Given the description of an element on the screen output the (x, y) to click on. 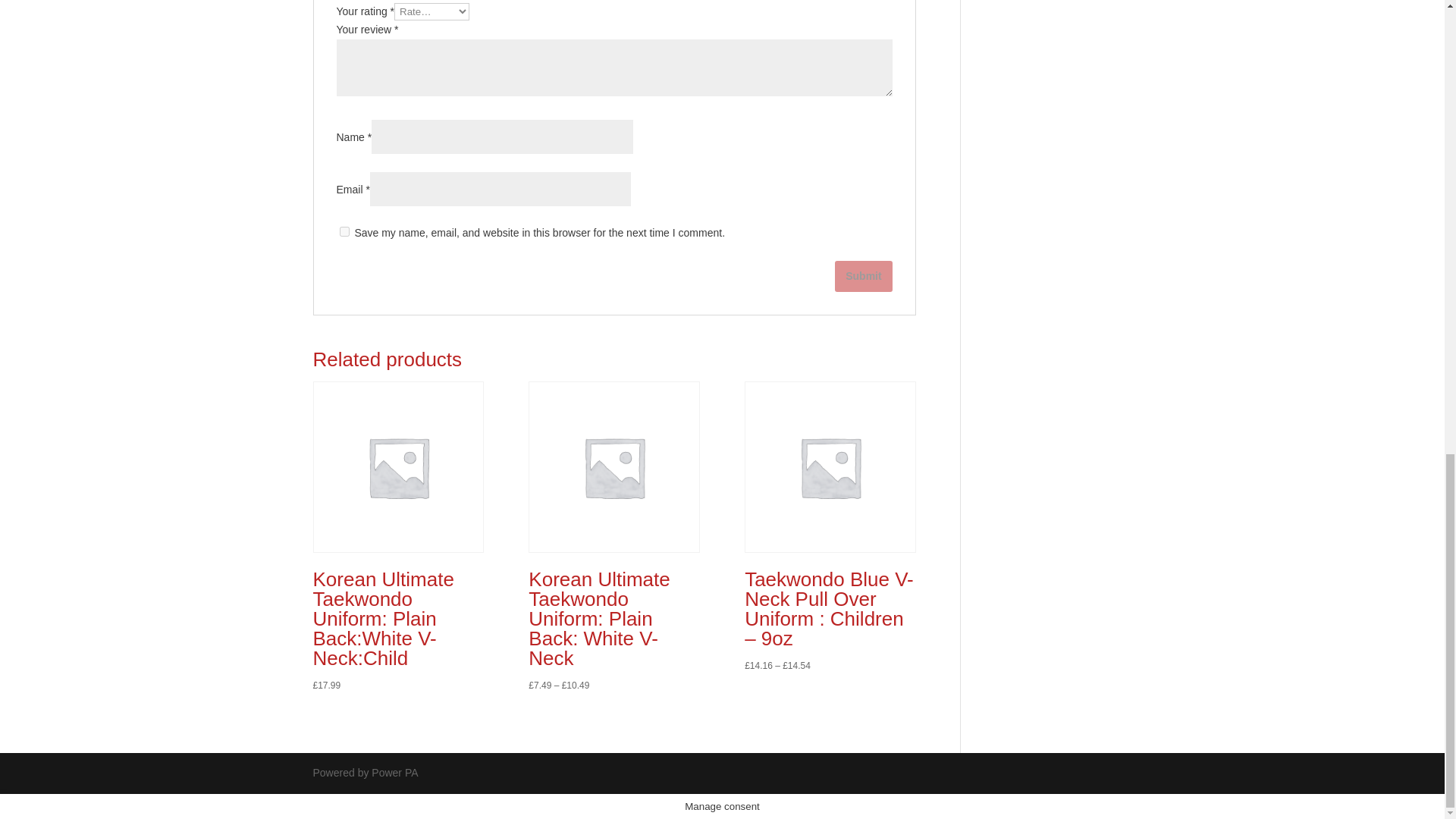
Submit (862, 276)
Submit (862, 276)
yes (344, 231)
